Given the description of an element on the screen output the (x, y) to click on. 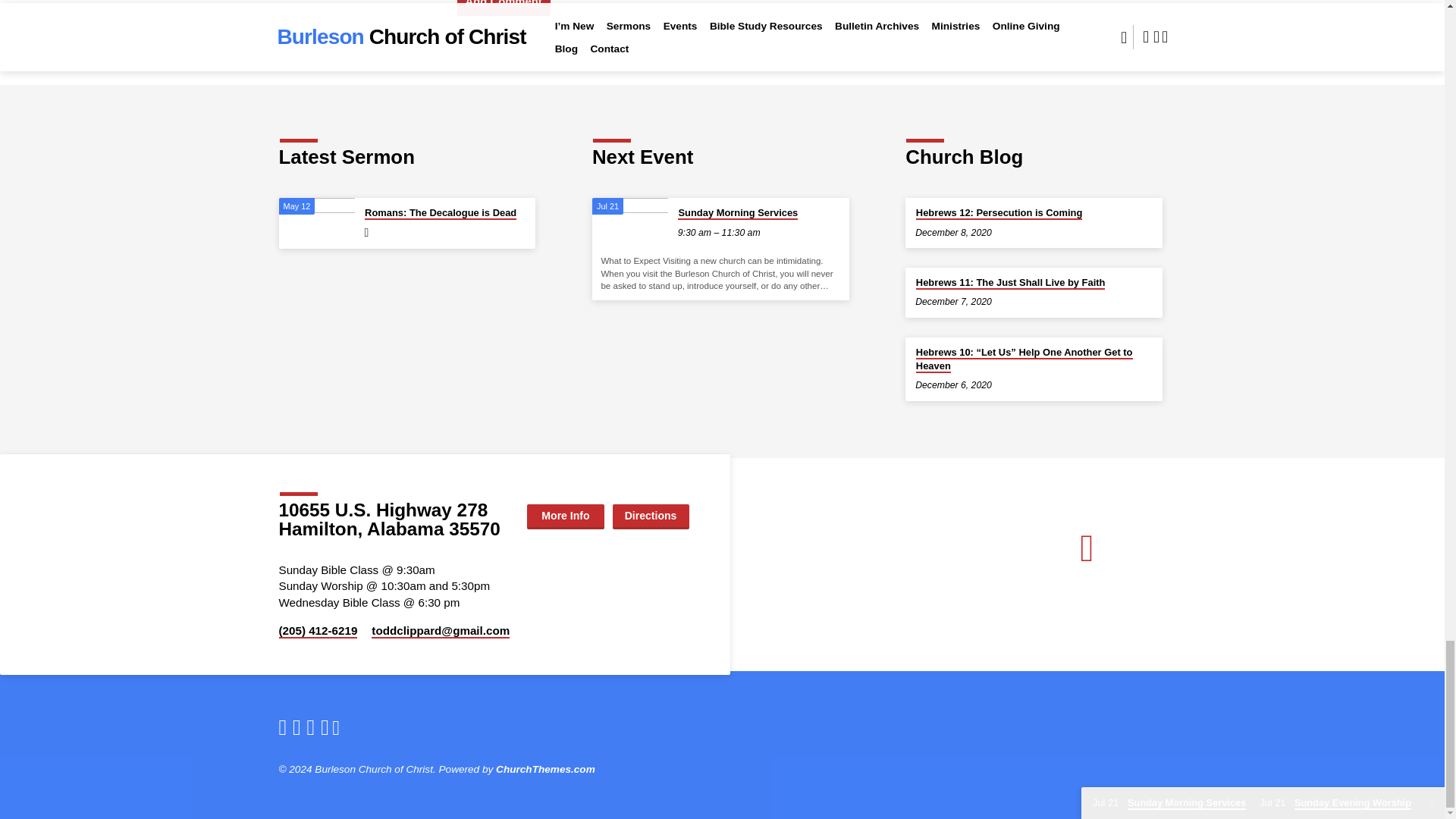
Add Comment (503, 7)
